Given the description of an element on the screen output the (x, y) to click on. 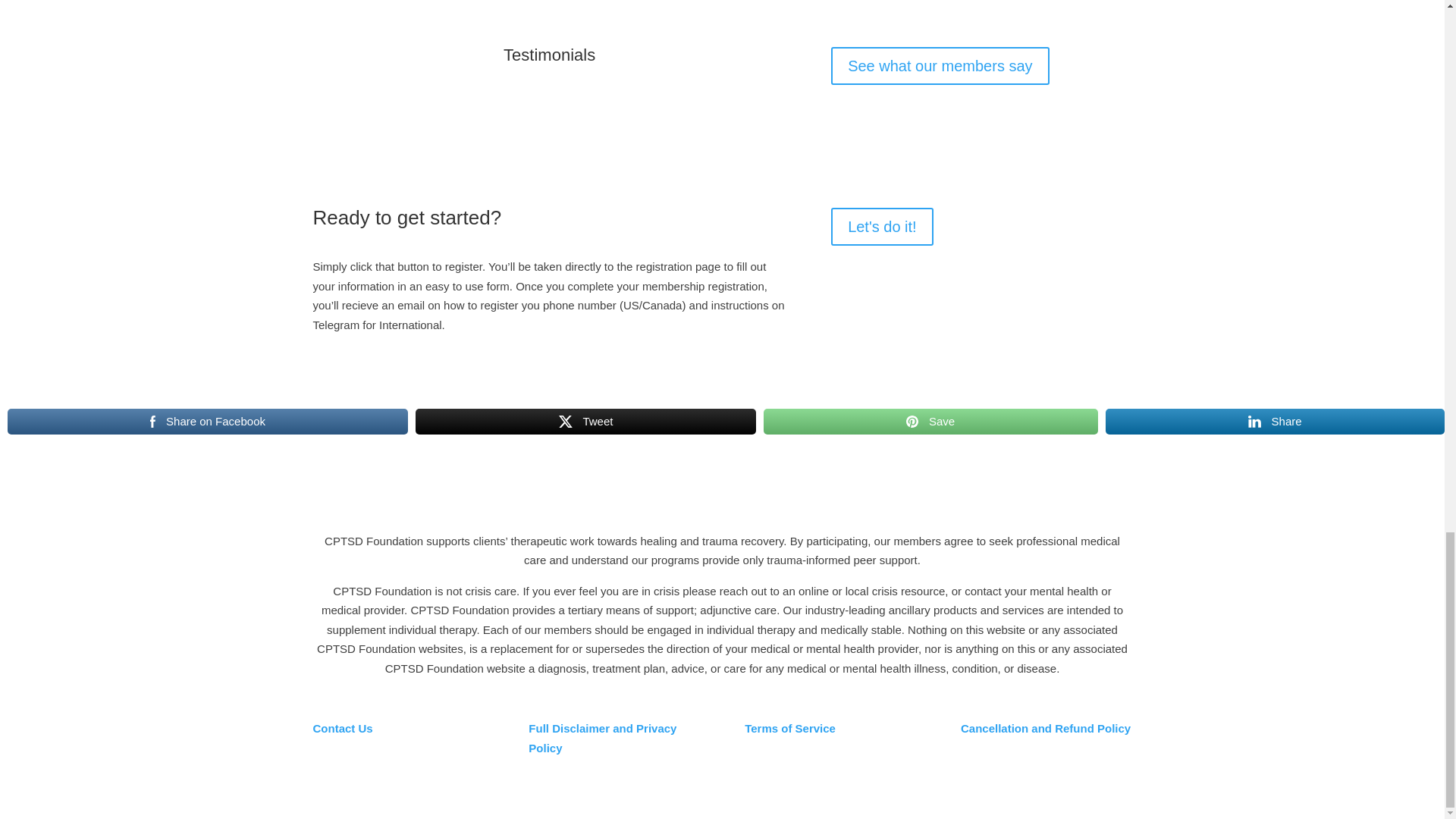
See what our members say (939, 65)
Let's do it! (882, 226)
Share on Facebook (207, 421)
